Given the description of an element on the screen output the (x, y) to click on. 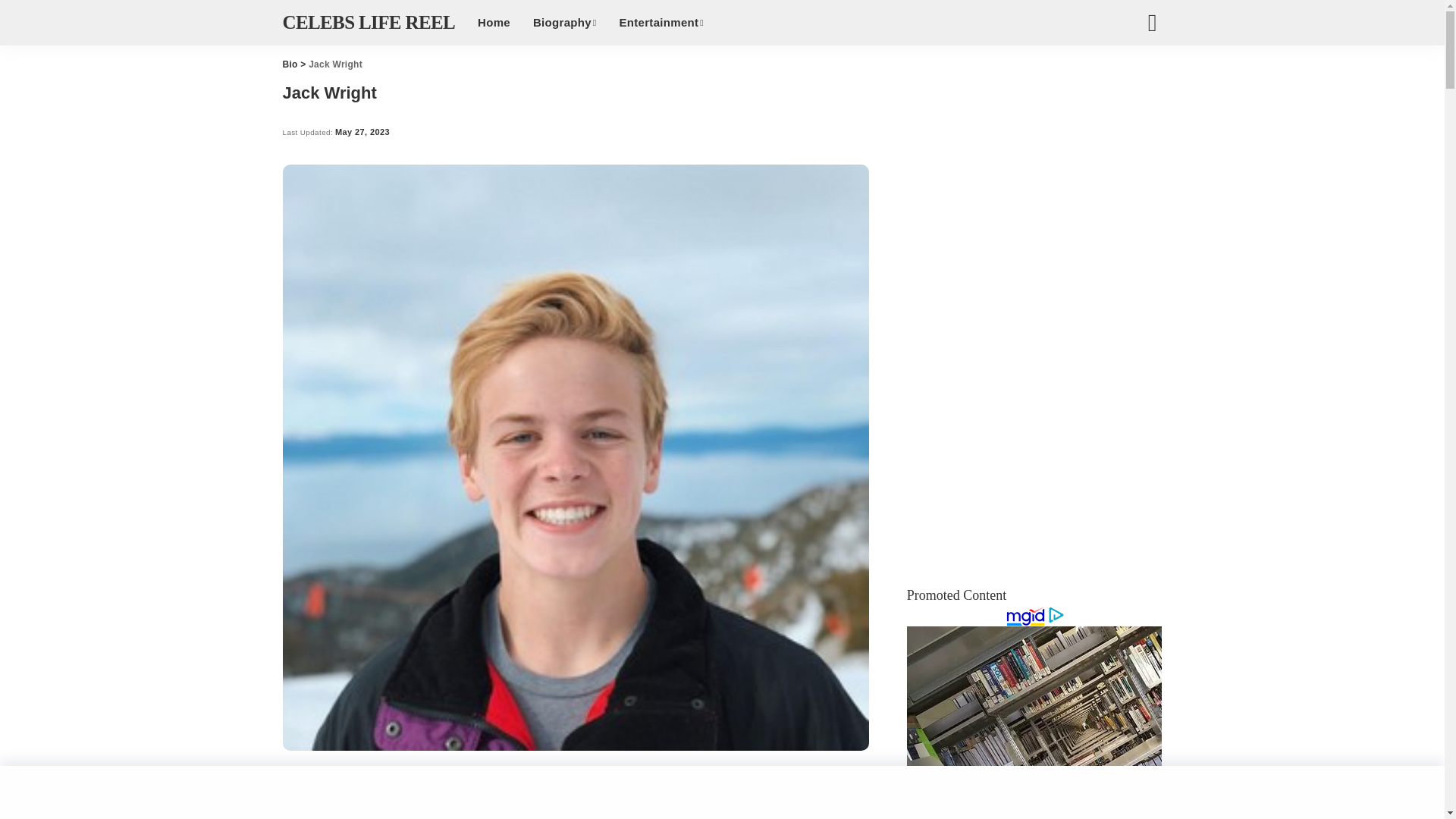
CELEBS LIFE REEL (368, 22)
Entertainment (661, 22)
Home (493, 22)
CELEBS LIFE REEL (368, 22)
Go to the Bio Category archives. (289, 63)
Advertisement (575, 796)
Biography (564, 22)
